Given the description of an element on the screen output the (x, y) to click on. 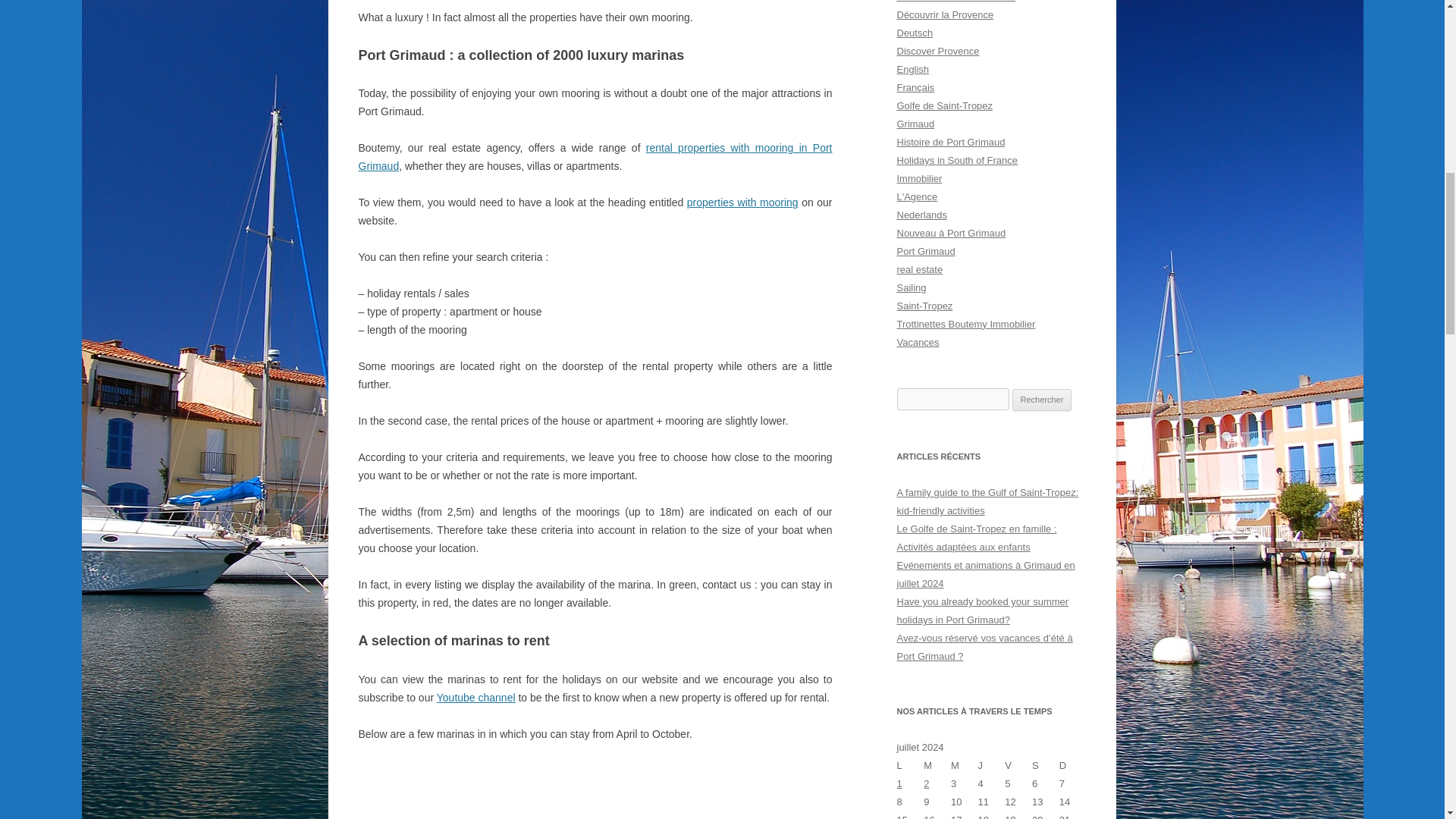
Rechercher (1041, 400)
properties with mooring (742, 202)
L'Agence (916, 196)
Histoire de Port Grimaud (950, 142)
rental properties with mooring in Port Grimaud (594, 156)
Immobilier (919, 178)
mardi (936, 765)
Discover Provence (937, 50)
Port Grimaud (925, 251)
jeudi (992, 765)
Deutsch (914, 32)
Golfe de Saint-Tropez (944, 105)
mercredi (964, 765)
real estate (919, 269)
Youtube channel (475, 697)
